Given the description of an element on the screen output the (x, y) to click on. 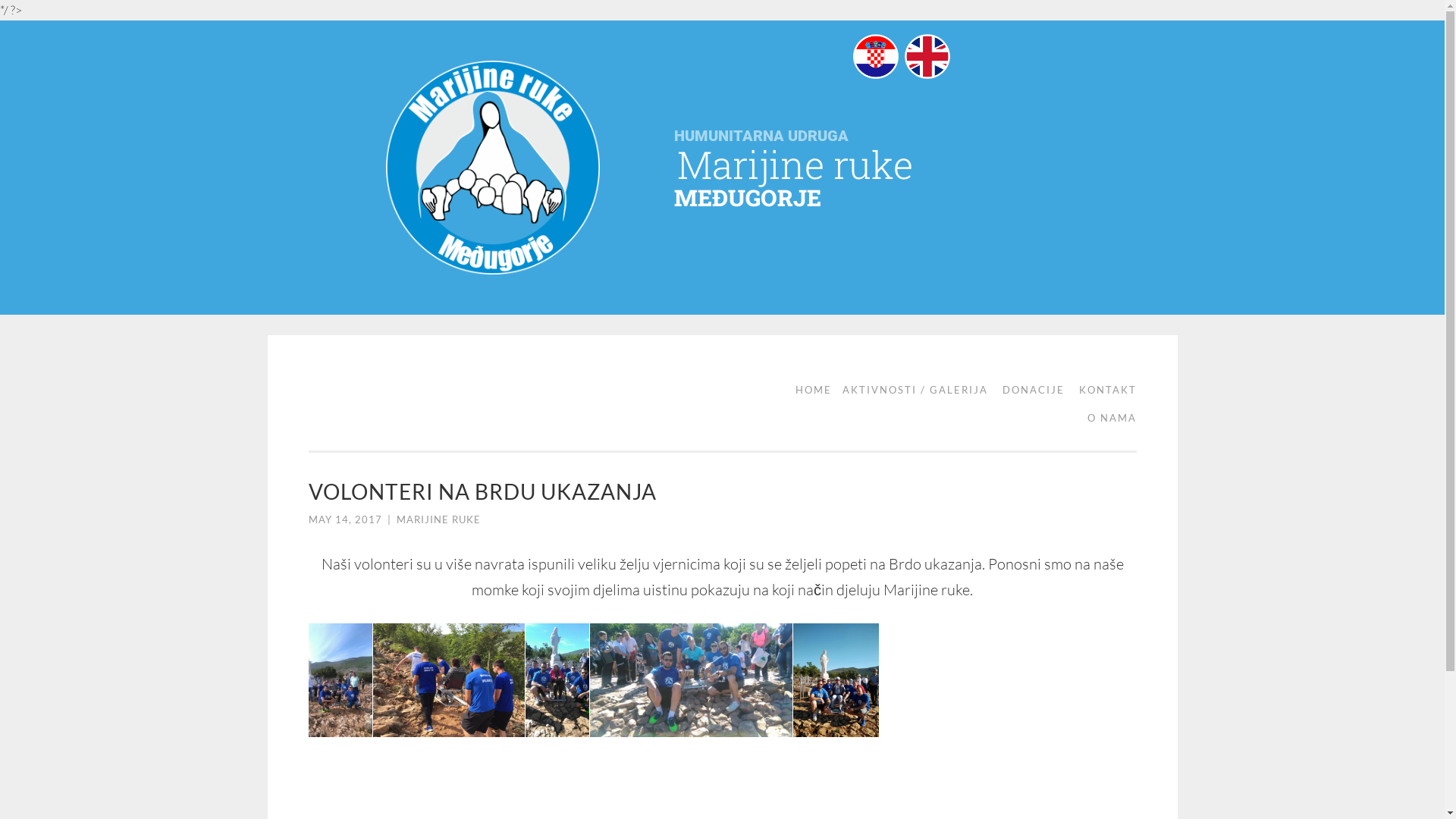
MARIJINE RUKE Element type: text (437, 519)
3 Element type: hover (690, 680)
1 Element type: hover (448, 680)
O NAMA Element type: text (1106, 418)
KONTAKT Element type: text (1101, 390)
AKTIVNOSTI / GALERIJA Element type: text (909, 390)
2 Element type: hover (556, 680)
5 Element type: hover (339, 680)
HOME Element type: text (807, 390)
MAY 14, 2017 Element type: text (344, 519)
DONACIJE Element type: text (1027, 390)
4 Element type: hover (835, 680)
MARIJINE RUKE Element type: text (365, 396)
